Given the description of an element on the screen output the (x, y) to click on. 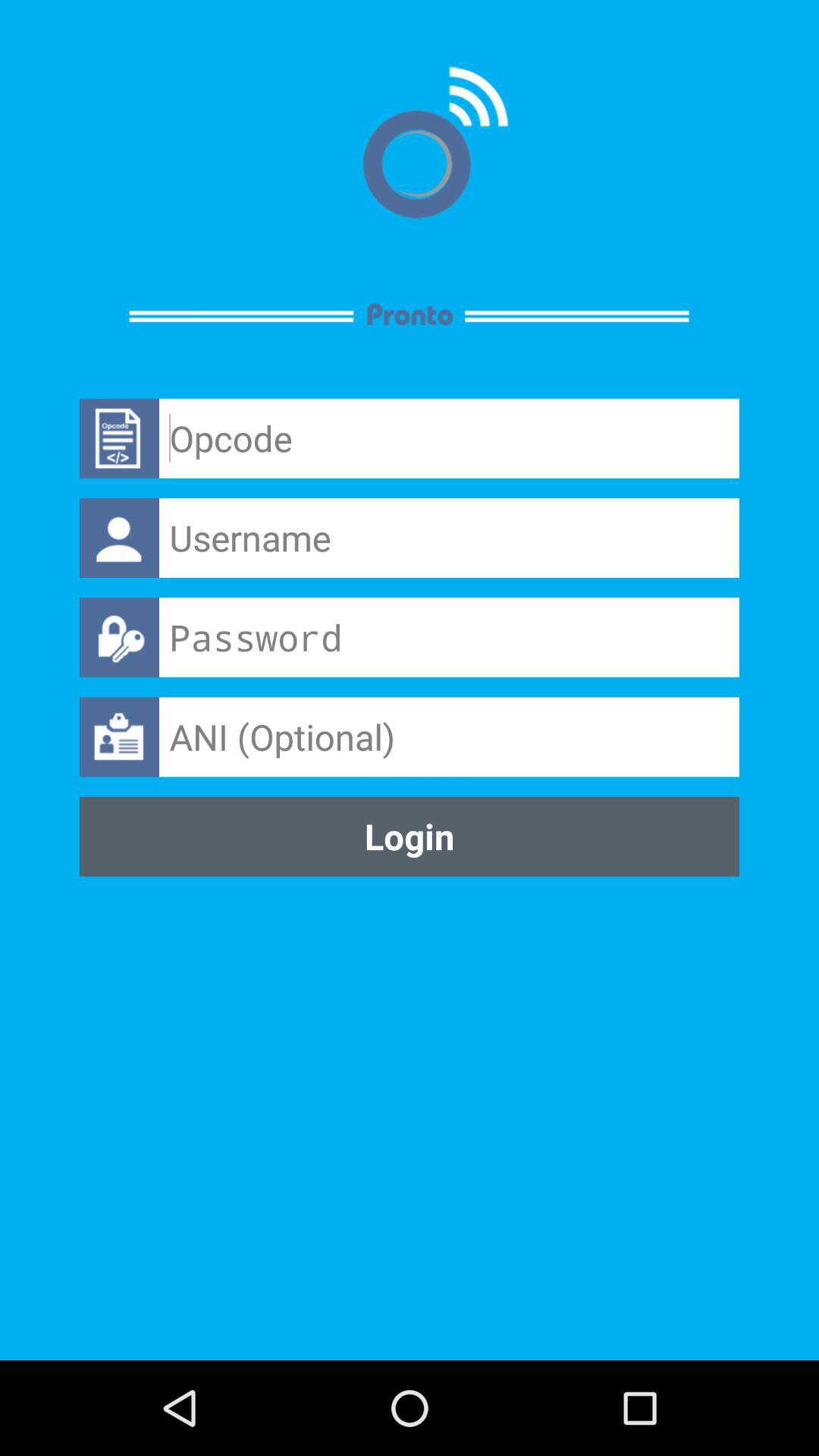
flip to the login (409, 836)
